Given the description of an element on the screen output the (x, y) to click on. 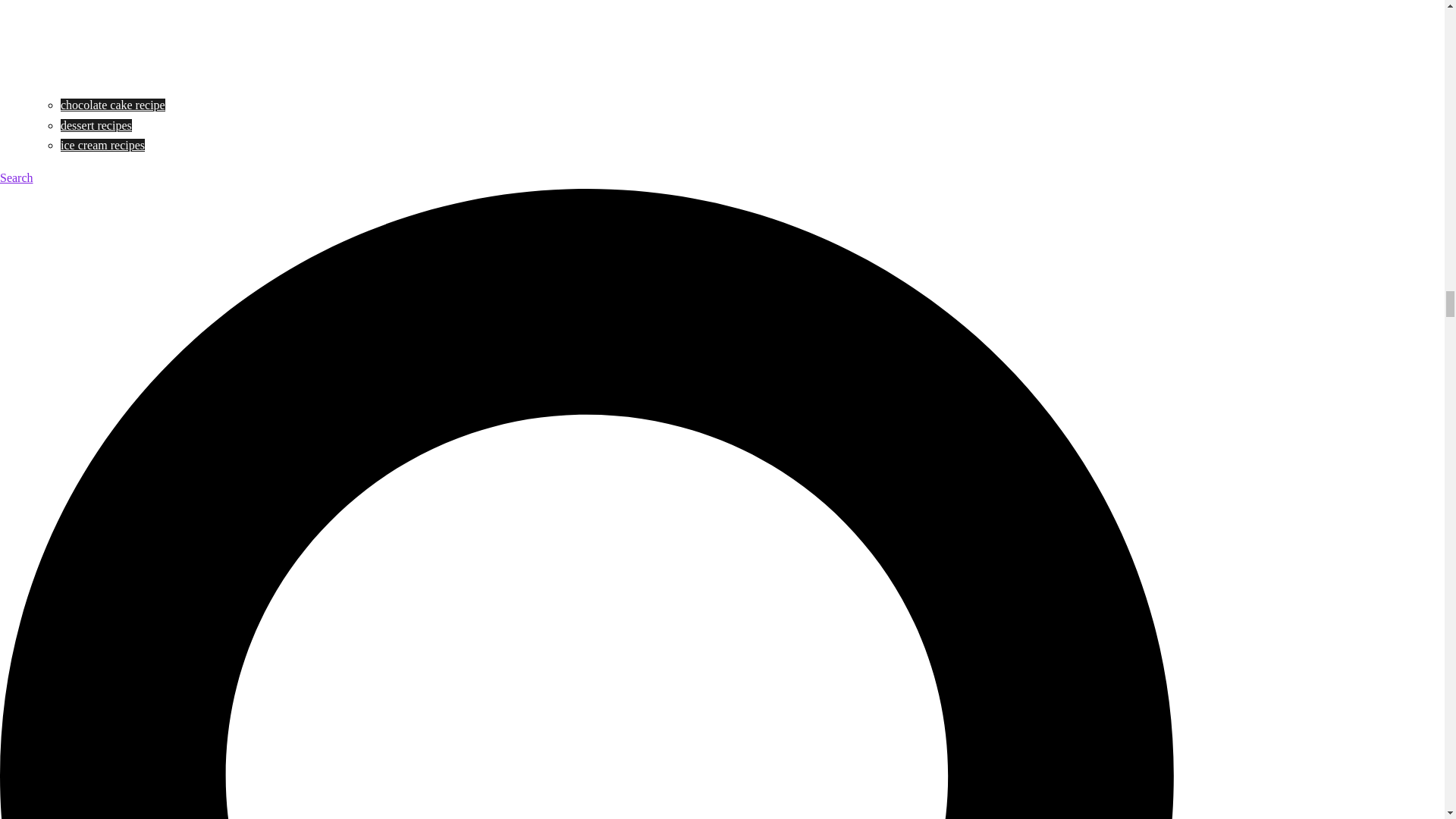
ice cream recipes (102, 144)
chocolate cake recipe (113, 104)
dessert recipes (96, 124)
